Given the description of an element on the screen output the (x, y) to click on. 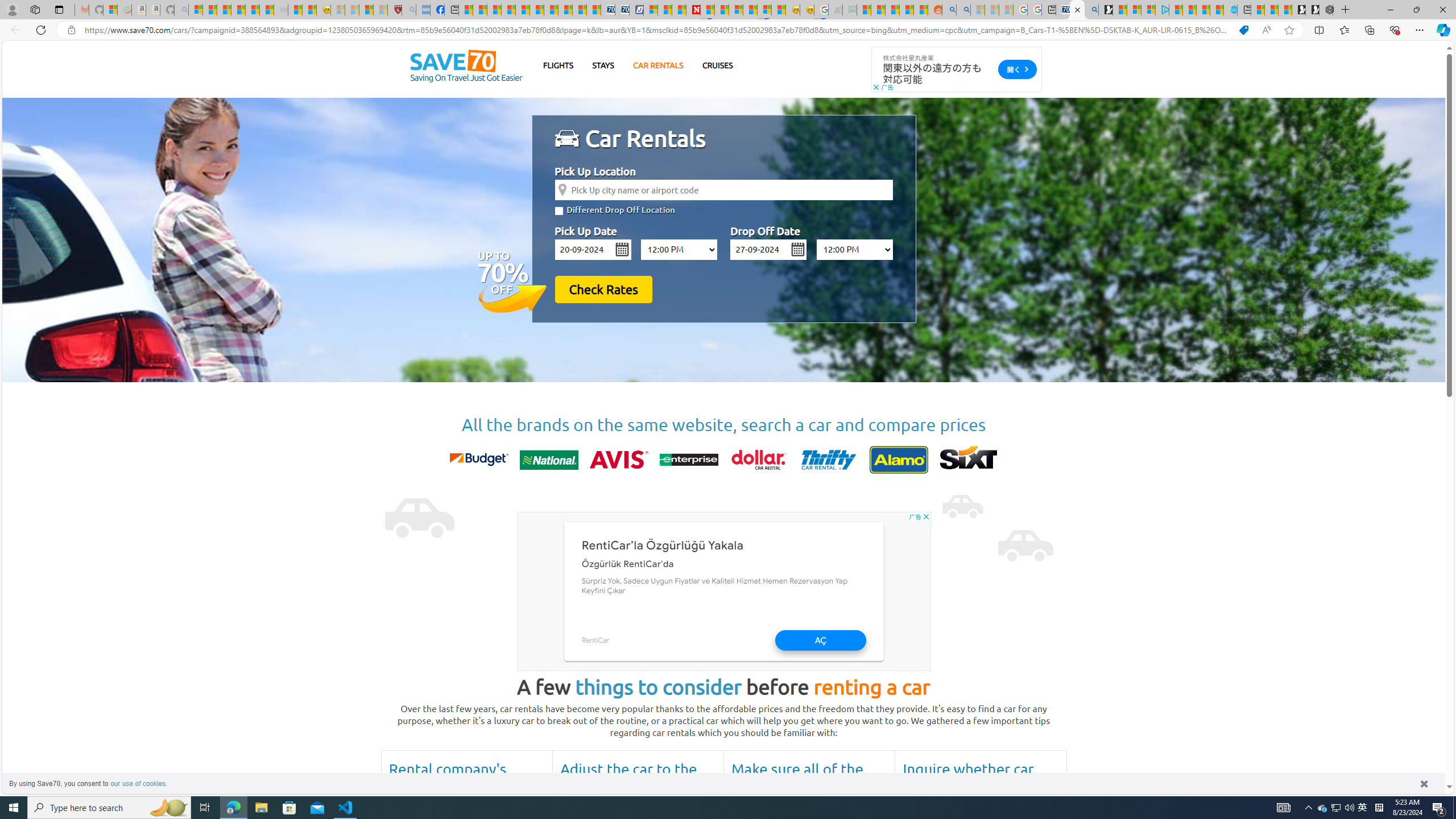
national (548, 459)
STAYS (603, 65)
Climate Damage Becomes Too Severe To Reverse (507, 9)
Stocks - MSN (266, 9)
Bing Real Estate - Home sales and rental listings (1090, 9)
Cheap Car Rentals - Save70.com (1077, 9)
sixt (968, 459)
FLIGHTS (558, 65)
